Given the description of an element on the screen output the (x, y) to click on. 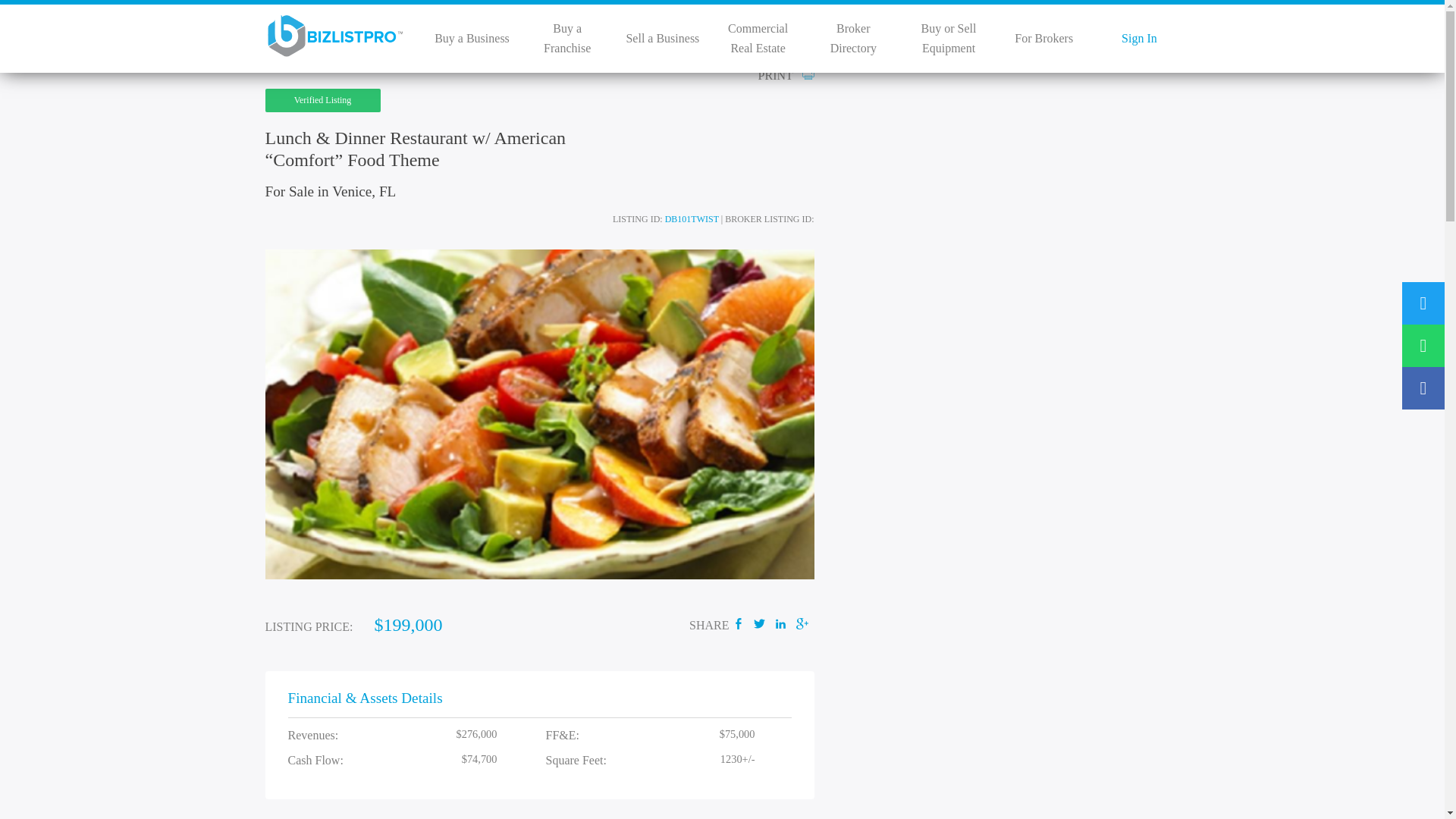
Sign In (1139, 38)
Buy a Franchise (567, 38)
Sell a Business (662, 38)
For Brokers (1043, 38)
Commercial Real Estate (757, 38)
Broker Directory (852, 38)
Buy a Business (471, 38)
Buy or Sell Equipment (948, 38)
